Given the description of an element on the screen output the (x, y) to click on. 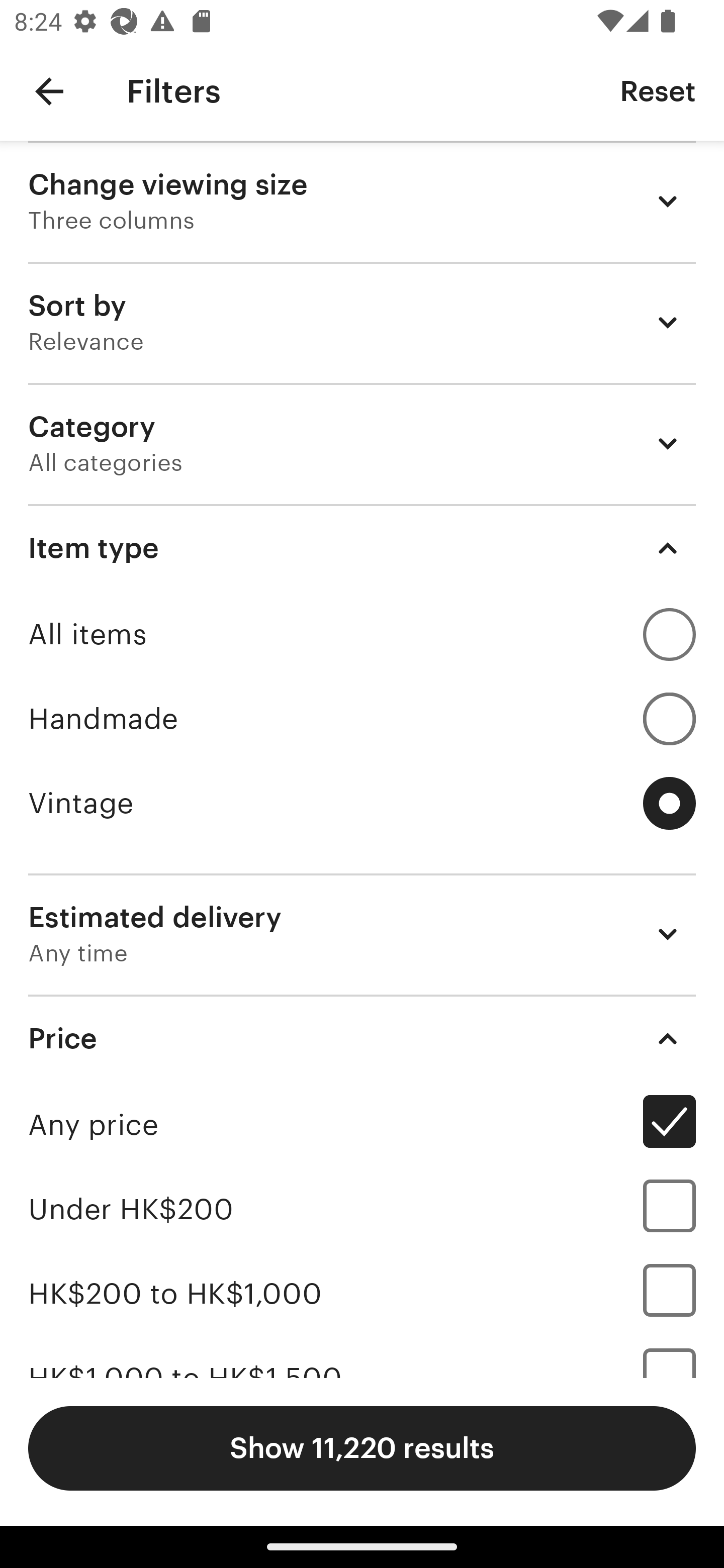
Navigate up (49, 91)
Reset (657, 90)
Change viewing size Three columns (362, 201)
Sort by Relevance (362, 321)
Category All categories (362, 442)
Item type (362, 547)
All items (362, 633)
Handmade (362, 717)
Vintage (362, 802)
Estimated delivery Any time (362, 933)
Price (362, 1037)
Any price (362, 1123)
Under HK$200 (362, 1208)
HK$200 to HK$1,000 (362, 1293)
Show 11,220 results Show 136,682 results (361, 1448)
